Given the description of an element on the screen output the (x, y) to click on. 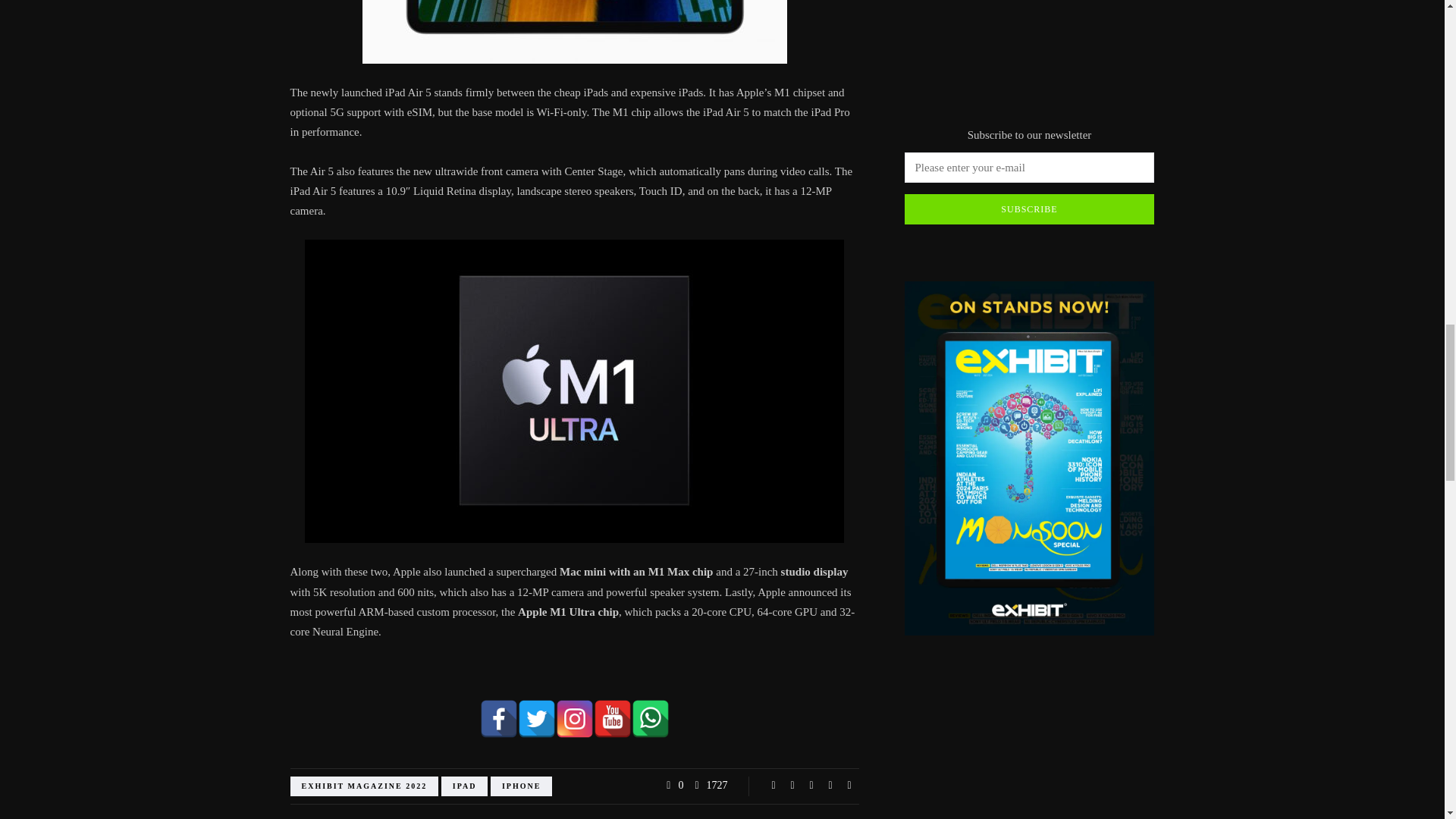
WhatsApp (649, 718)
YouTube (611, 718)
Instagram (573, 718)
Tweet this (792, 785)
Facebook (497, 718)
Share with Facebook (773, 785)
Twitter (535, 718)
